Given the description of an element on the screen output the (x, y) to click on. 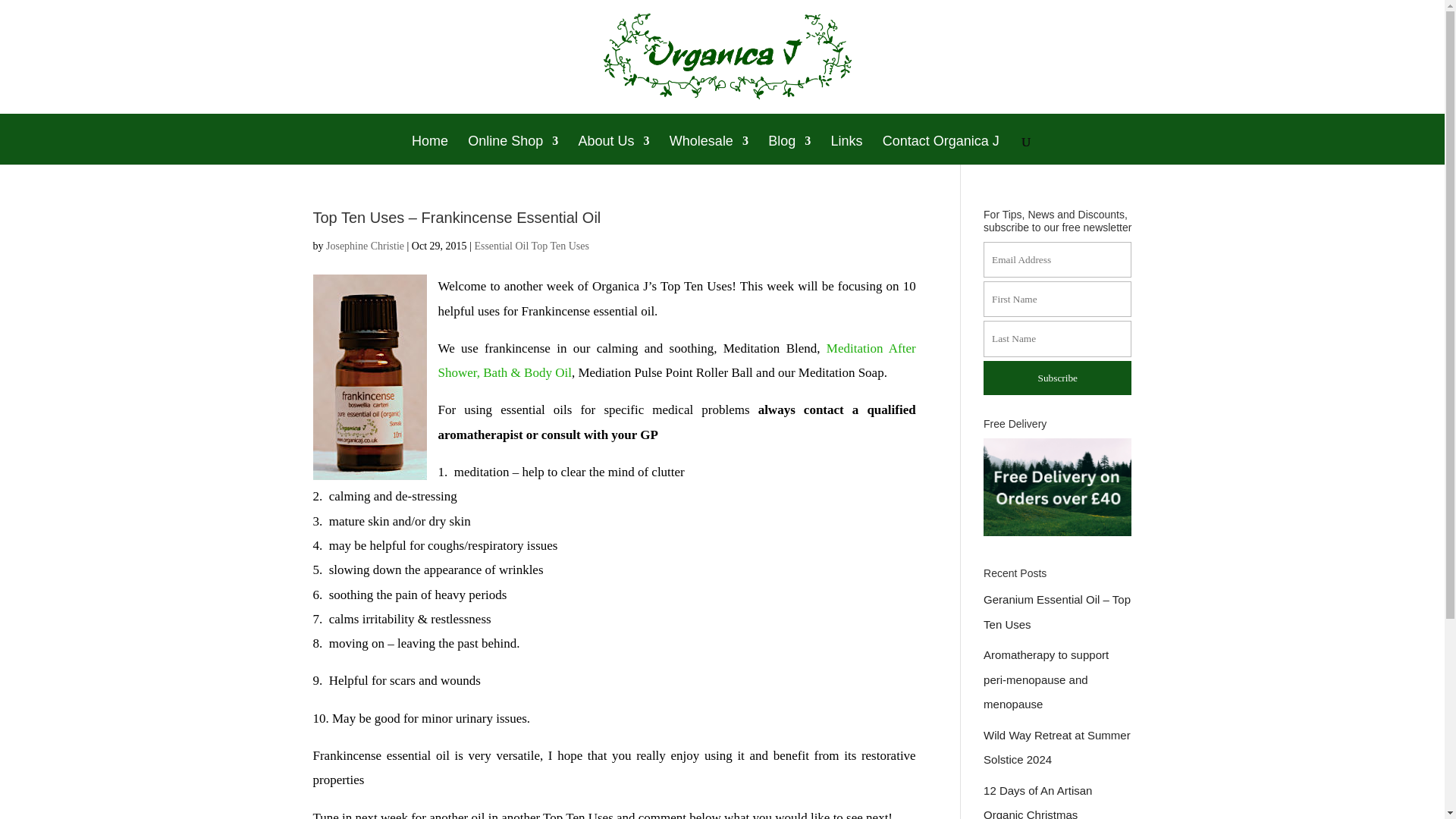
Home (430, 149)
Blog (789, 149)
Posts by Josephine Christie (365, 245)
Subscribe (1057, 377)
Links (845, 149)
Contact Organica J (940, 149)
About Us (613, 149)
Wholesale (708, 149)
Online Shop (512, 149)
